Given the description of an element on the screen output the (x, y) to click on. 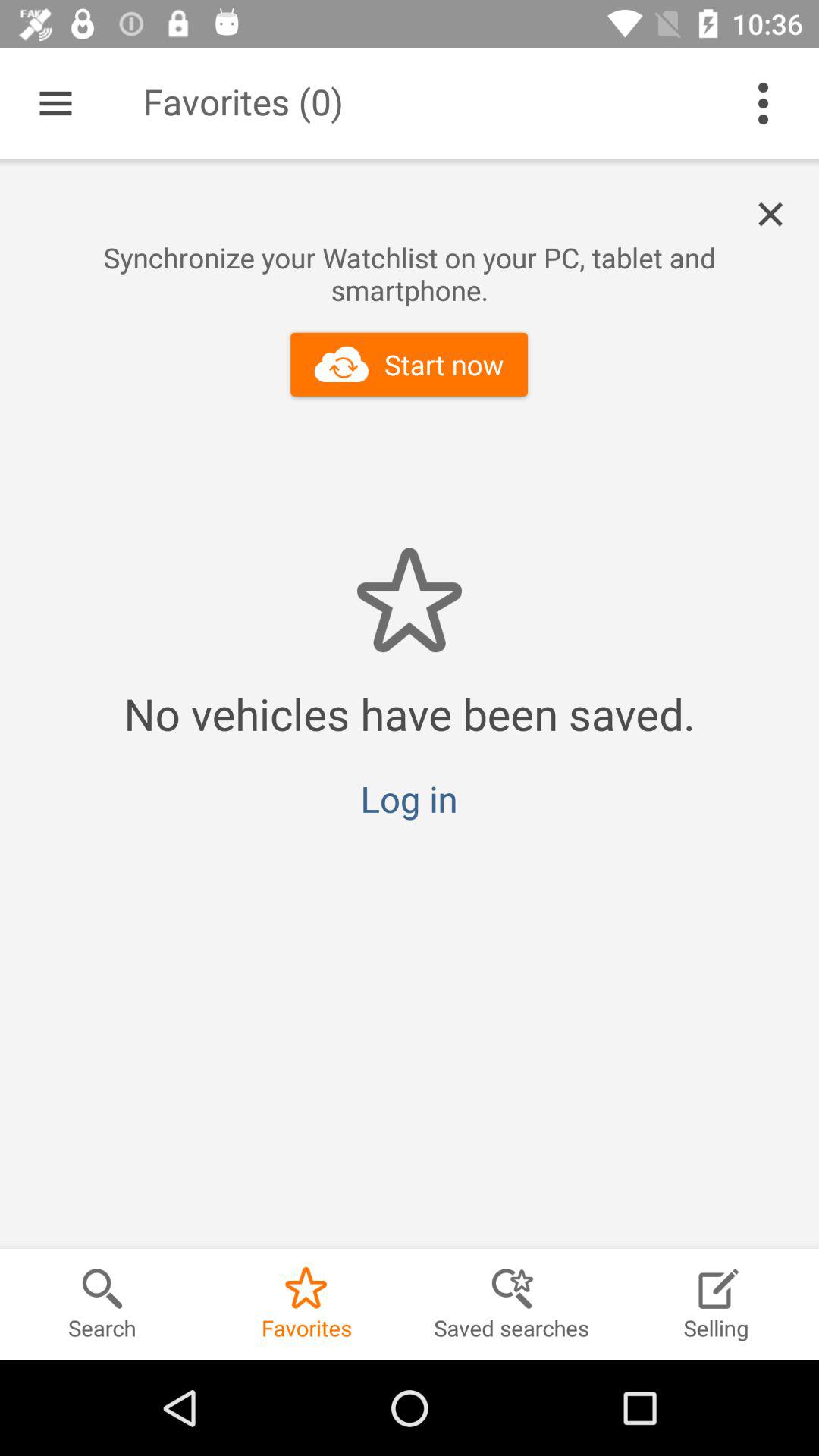
jump until the log in item (408, 798)
